Given the description of an element on the screen output the (x, y) to click on. 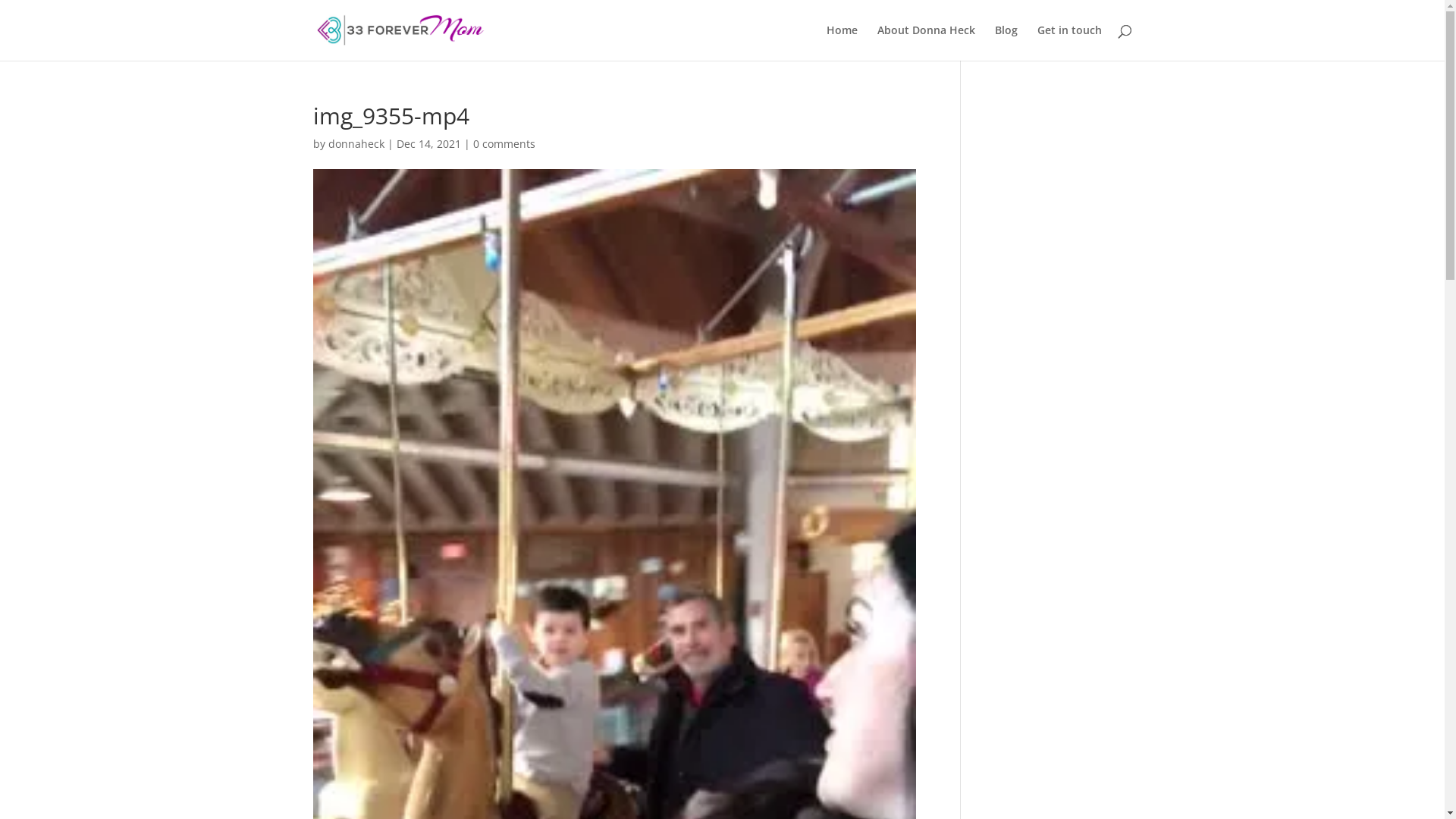
0 comments Element type: text (504, 143)
Get in touch Element type: text (1069, 42)
Home Element type: text (841, 42)
donnaheck Element type: text (355, 143)
About Donna Heck Element type: text (925, 42)
Blog Element type: text (1005, 42)
